Given the description of an element on the screen output the (x, y) to click on. 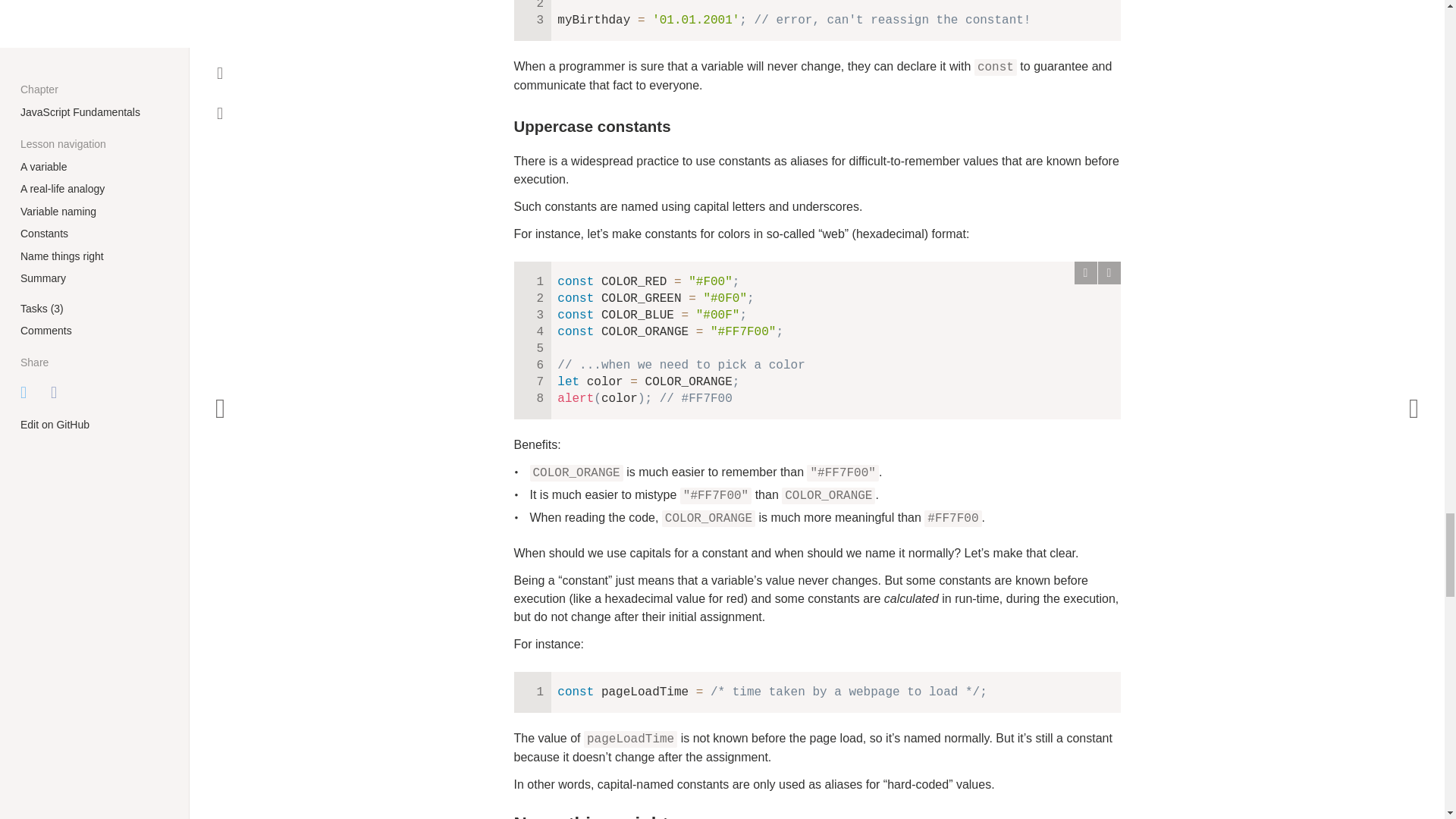
run (1085, 272)
open in sandbox (1109, 272)
